Given the description of an element on the screen output the (x, y) to click on. 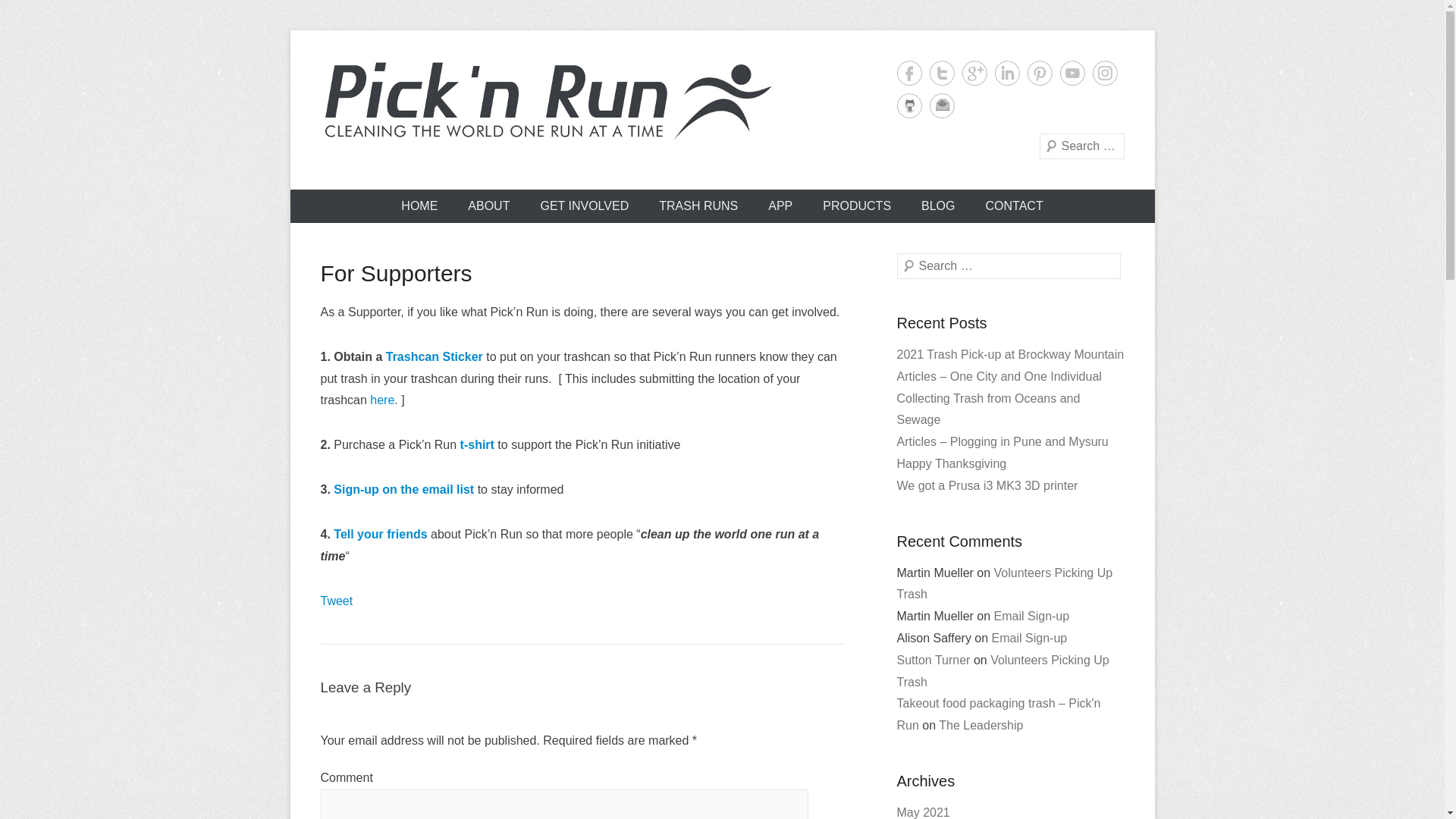
APP (780, 205)
Pinterest (1038, 72)
Twitter (942, 72)
GitHub (908, 105)
Pick'n Run (416, 167)
HOME (418, 205)
YouTube (1071, 72)
TRASH RUNS (697, 205)
LinkedIn (1007, 72)
Products (434, 356)
